Given the description of an element on the screen output the (x, y) to click on. 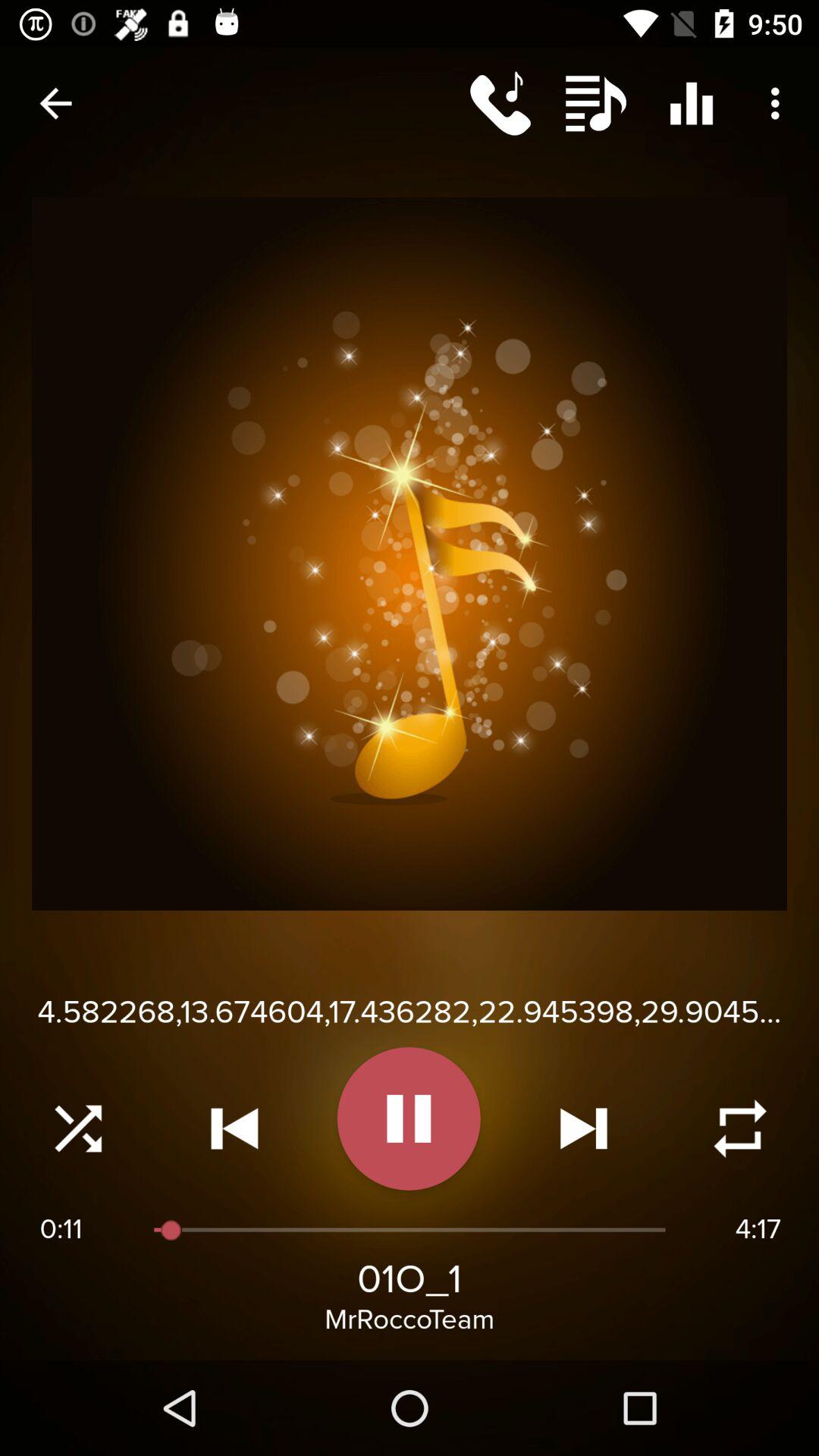
go previous (234, 1128)
